Given the description of an element on the screen output the (x, y) to click on. 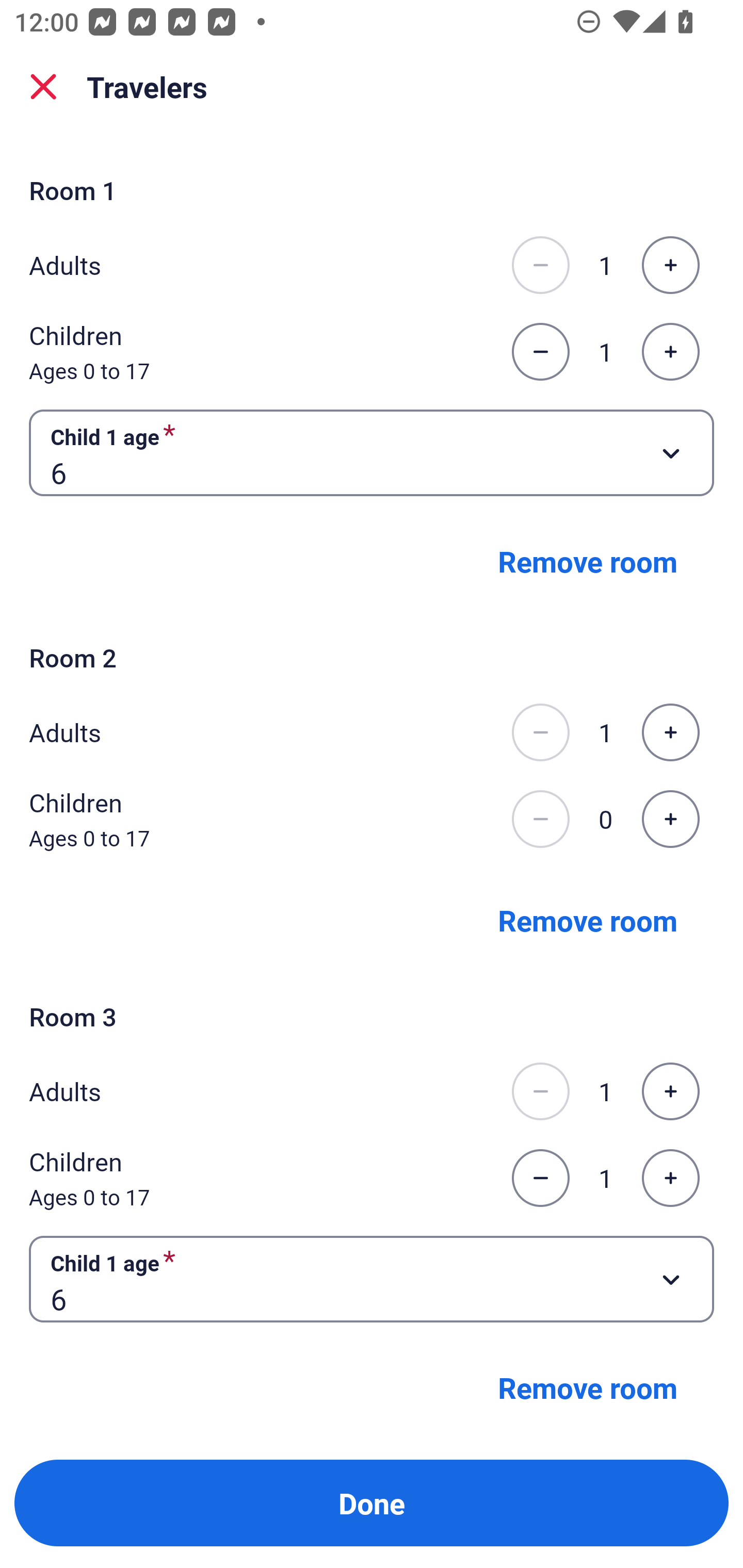
close (43, 86)
Decrease the number of adults (540, 264)
Increase the number of adults (670, 264)
Decrease the number of children (540, 351)
Increase the number of children (670, 351)
Child 1 age required Button 6 (371, 452)
Remove room (588, 561)
Decrease the number of adults (540, 732)
Increase the number of adults (670, 732)
Decrease the number of children (540, 819)
Increase the number of children (670, 819)
Remove room (588, 919)
Decrease the number of adults (540, 1091)
Increase the number of adults (670, 1091)
Decrease the number of children (540, 1178)
Increase the number of children (670, 1178)
Child 1 age required Button 6 (371, 1278)
Remove room (588, 1386)
Done (371, 1502)
